Given the description of an element on the screen output the (x, y) to click on. 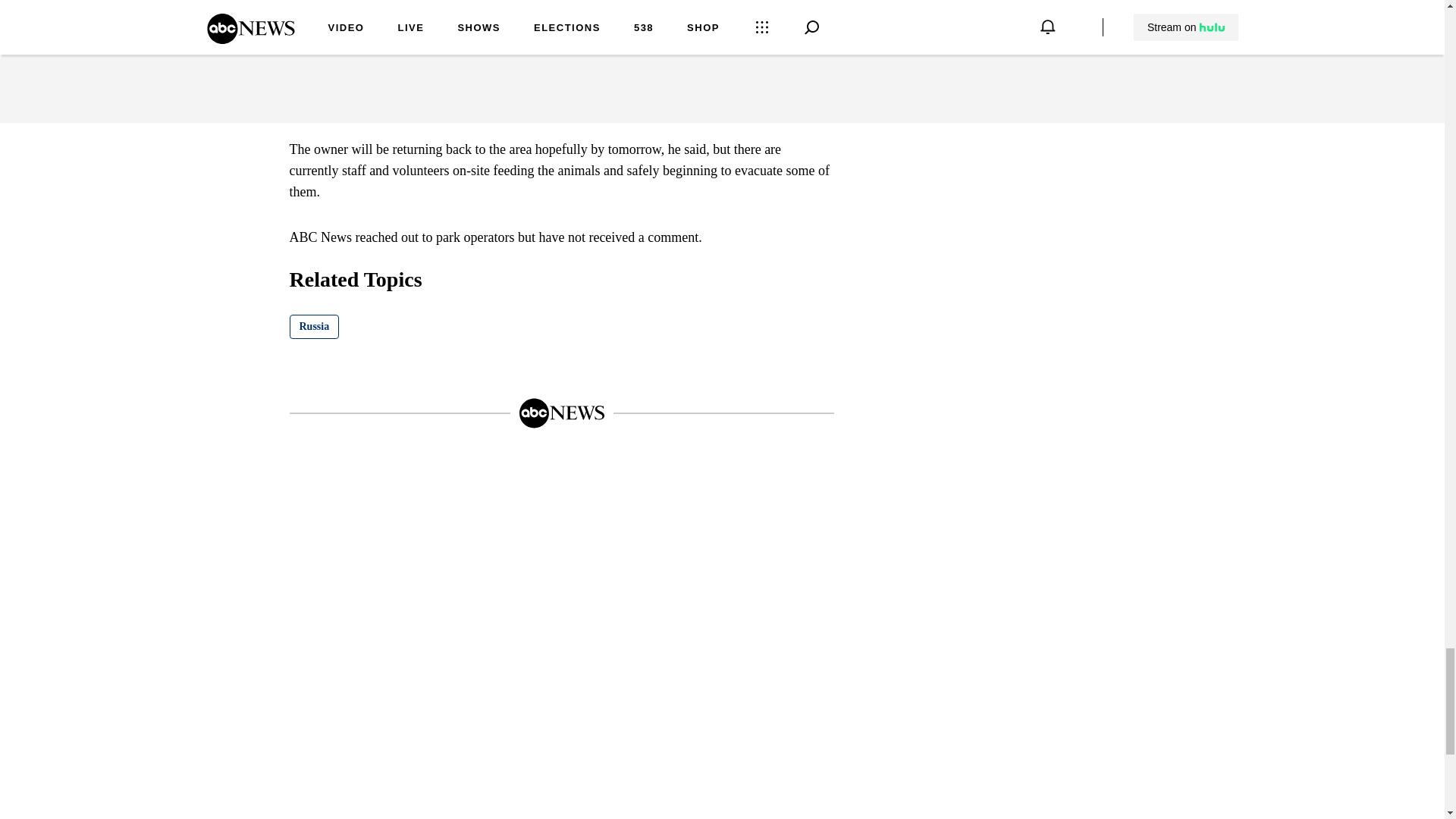
Russia (314, 326)
